Given the description of an element on the screen output the (x, y) to click on. 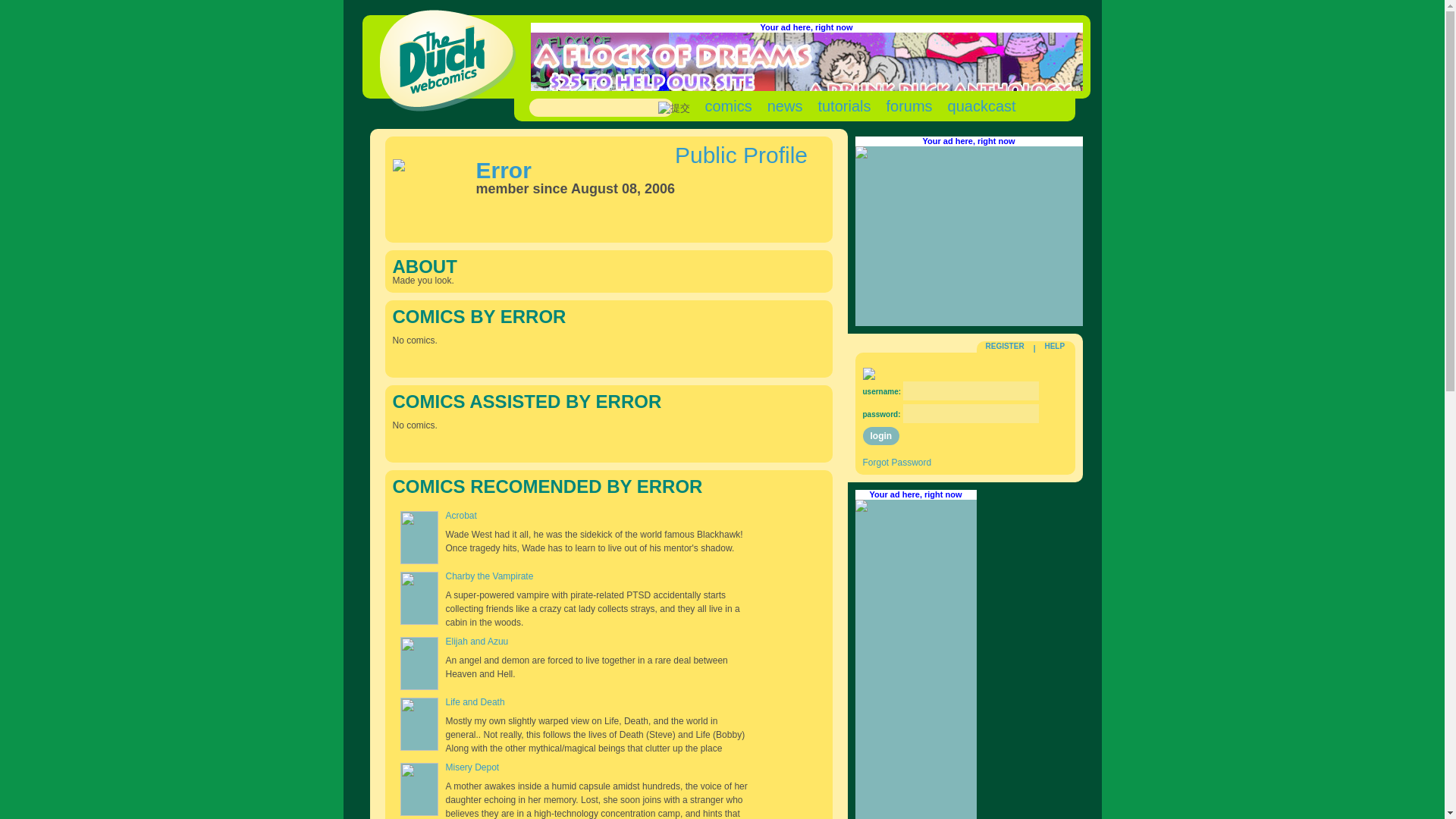
tutorials (843, 105)
Your ad here, right now (805, 26)
quackcast (981, 105)
Charby the Vampirate (489, 575)
forums (908, 105)
comics (728, 105)
Elijah and Azuu (476, 641)
Acrobat (461, 515)
news (785, 105)
Life and Death (475, 701)
